Given the description of an element on the screen output the (x, y) to click on. 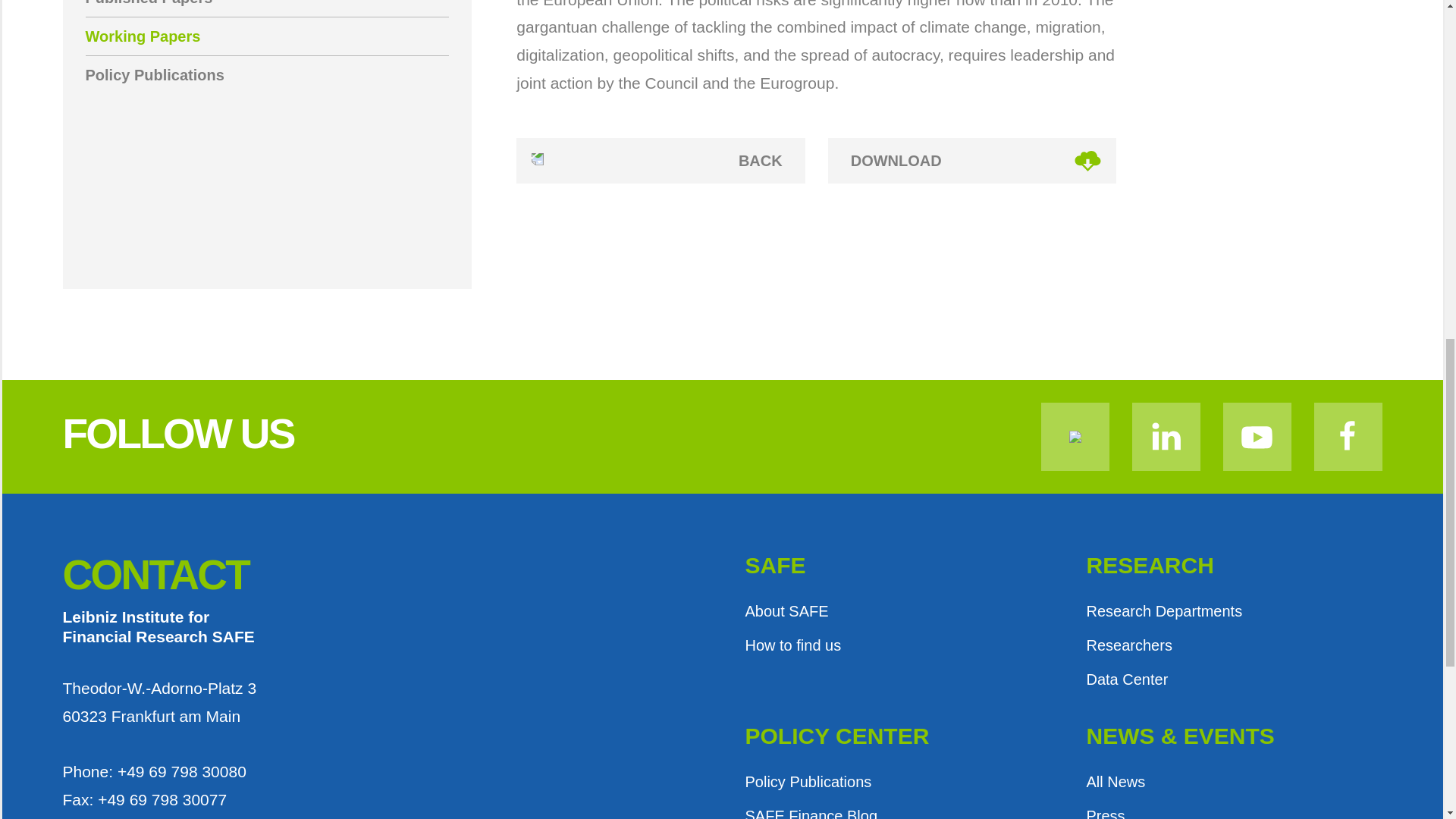
Working Papers (266, 36)
Policy Publications (266, 75)
Published Papers (266, 8)
